Given the description of an element on the screen output the (x, y) to click on. 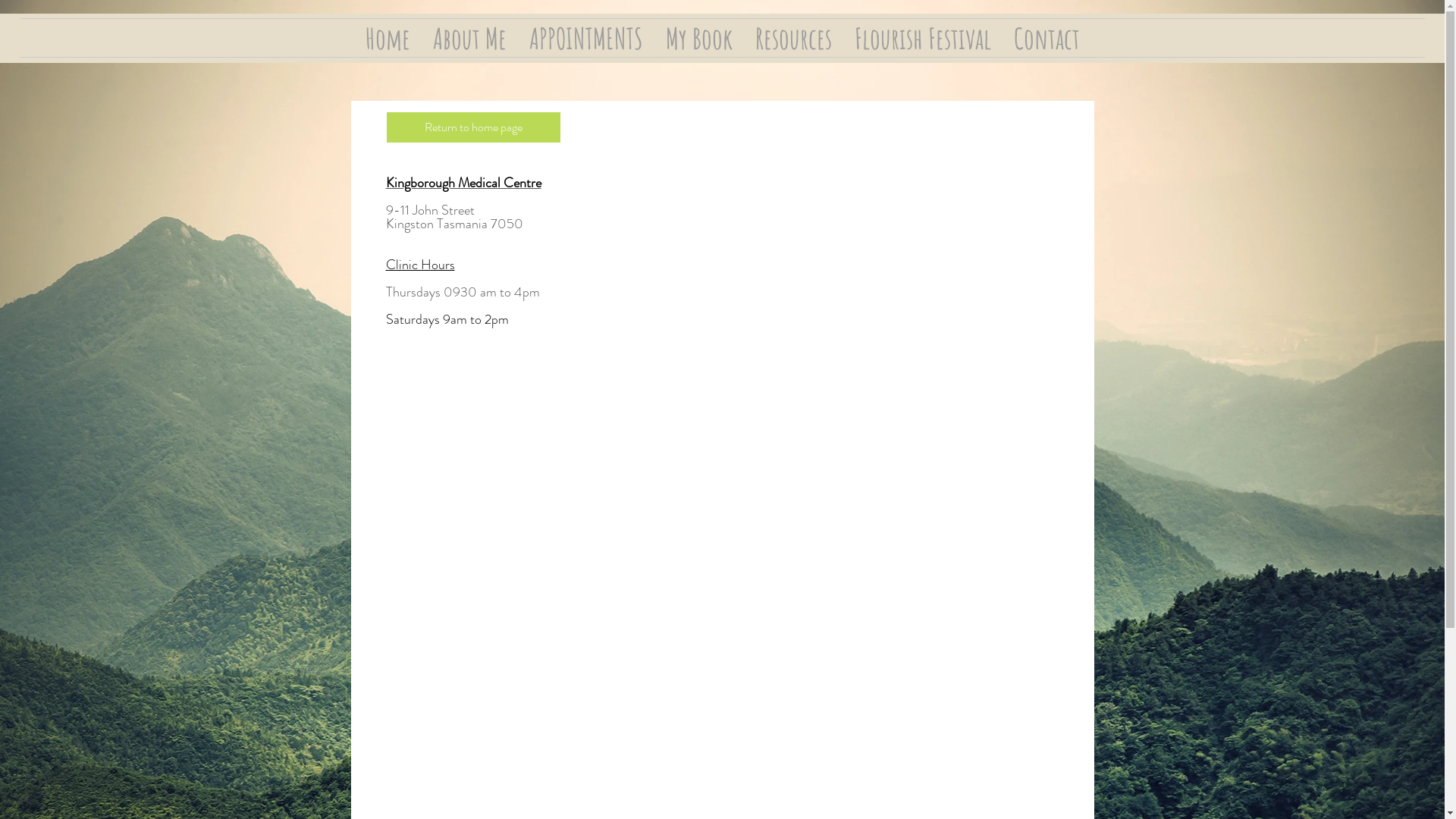
About Me Element type: text (469, 37)
Contact Element type: text (1046, 37)
My Book Element type: text (698, 37)
Flourish Festival Element type: text (922, 37)
APPOINTMENTS Element type: text (585, 37)
Home Element type: text (386, 37)
Return to home page Element type: text (473, 127)
Google Maps Element type: hover (480, 458)
Resources Element type: text (792, 37)
